Given the description of an element on the screen output the (x, y) to click on. 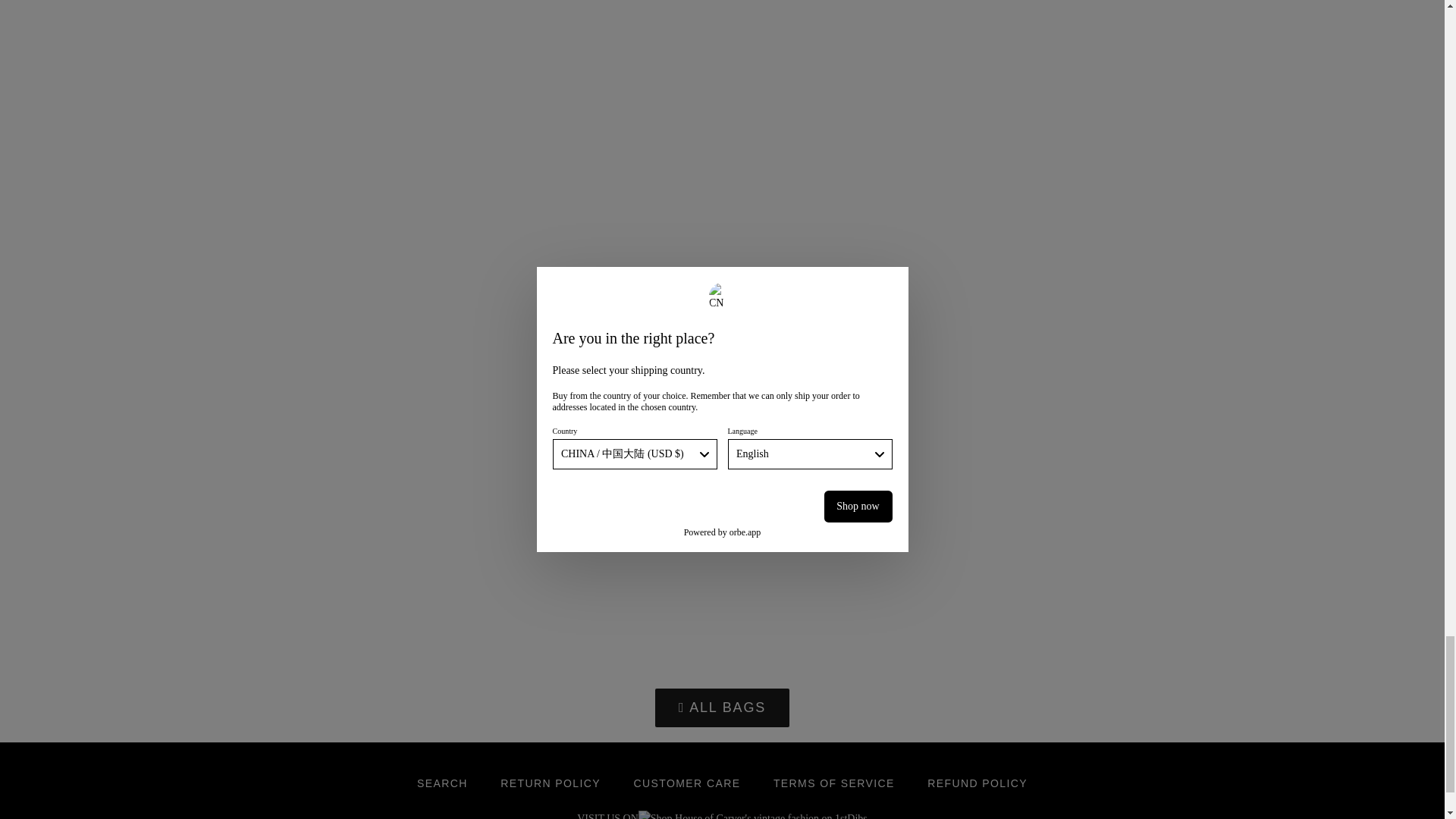
TERMS OF SERVICE (834, 784)
REFUND POLICY (977, 784)
CUSTOMER CARE (686, 784)
RETURN POLICY (549, 784)
SEARCH (442, 784)
ALL BAGS (722, 707)
